Given the description of an element on the screen output the (x, y) to click on. 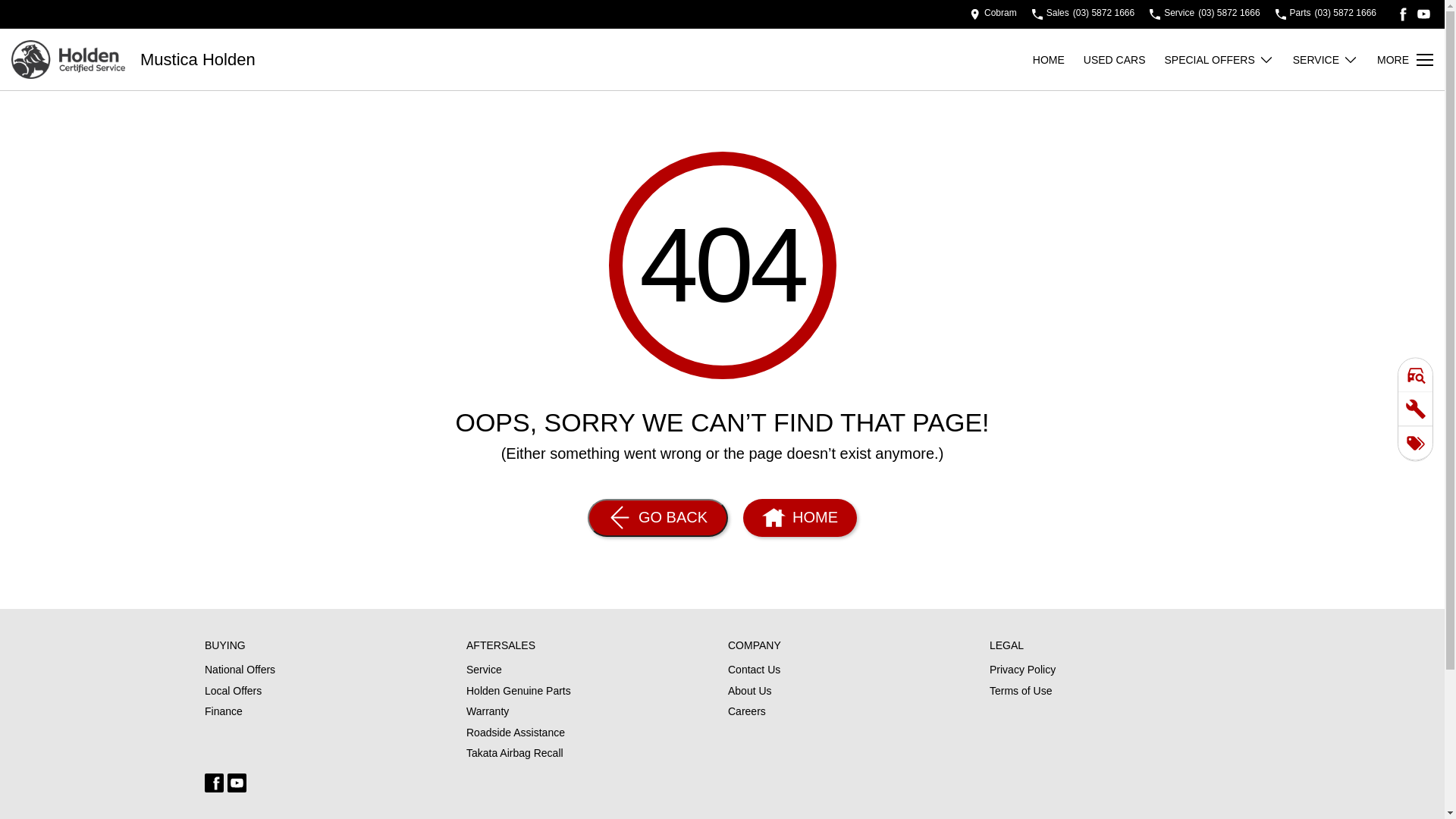
Terms of Use Element type: text (1020, 691)
Holden Genuine Parts Element type: text (518, 694)
GO BACK Element type: text (657, 517)
Finance Element type: text (223, 711)
Service
(03) 5872 1666 Element type: text (1204, 13)
SPECIAL OFFERS Element type: text (1218, 59)
SERVICE Element type: text (1325, 59)
Roadside Assistance Element type: text (515, 735)
HOME Element type: text (799, 517)
Local Offers Element type: text (232, 694)
Takata Airbag Recall Element type: text (514, 753)
Parts
(03) 5872 1666 Element type: text (1325, 13)
Contact Us Element type: text (754, 673)
Mustica Holden Element type: text (197, 59)
About Us Element type: text (749, 694)
Sales
(03) 5872 1666 Element type: text (1083, 13)
Careers Element type: text (746, 711)
MORE Element type: text (1405, 58)
Service Element type: text (484, 673)
HOME Element type: text (1057, 59)
National Offers Element type: text (239, 673)
Warranty Element type: text (487, 714)
Privacy Policy Element type: text (1022, 673)
Cobram Element type: text (992, 13)
USED CARS Element type: text (1123, 59)
